Given the description of an element on the screen output the (x, y) to click on. 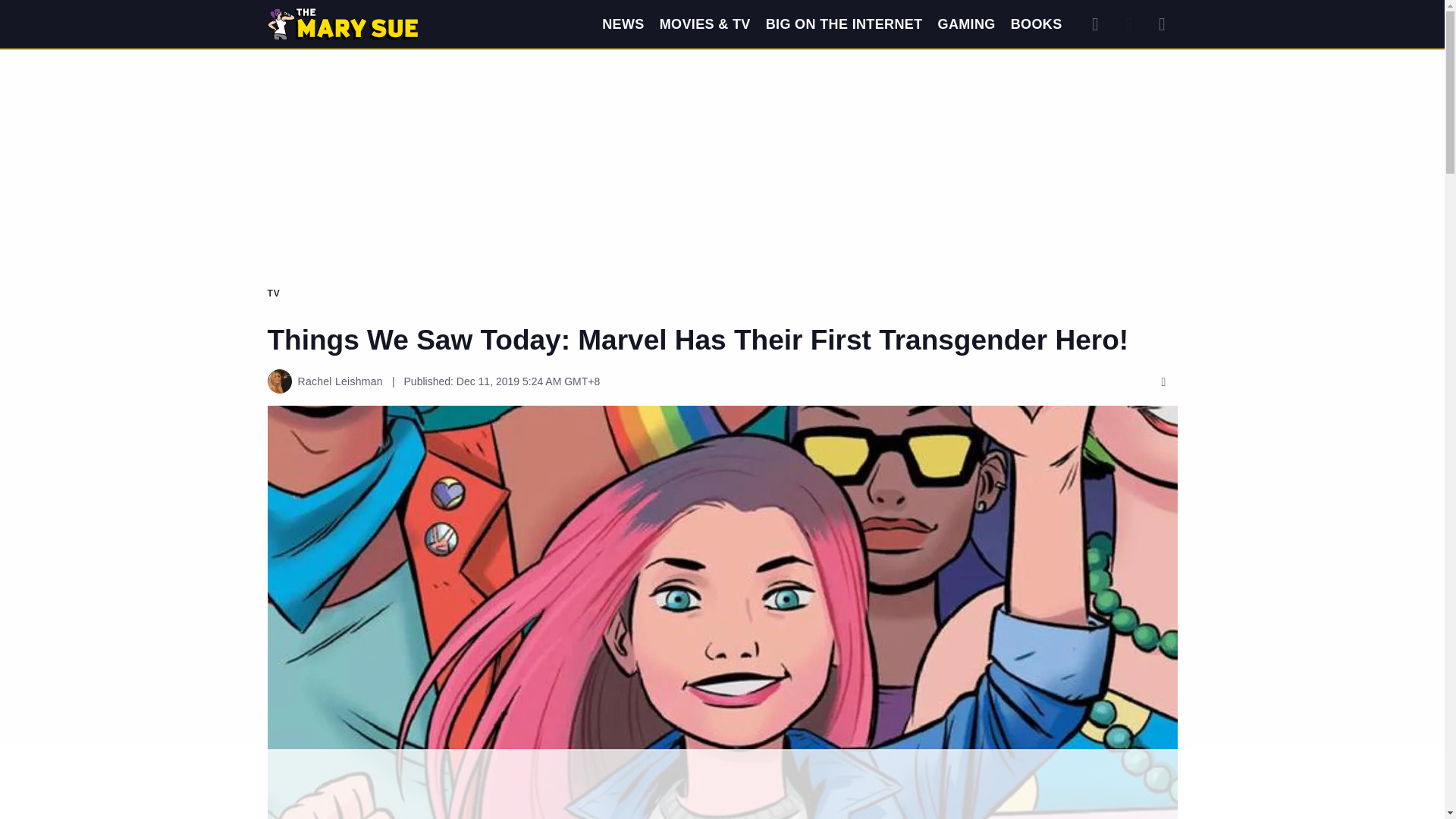
Expand Menu (1161, 24)
3rd party ad content (721, 785)
3rd party ad content (721, 108)
BIG ON THE INTERNET (844, 23)
Search (1094, 24)
GAMING (966, 23)
Dark Mode (1127, 24)
BOOKS (1036, 23)
NEWS (622, 23)
